Given the description of an element on the screen output the (x, y) to click on. 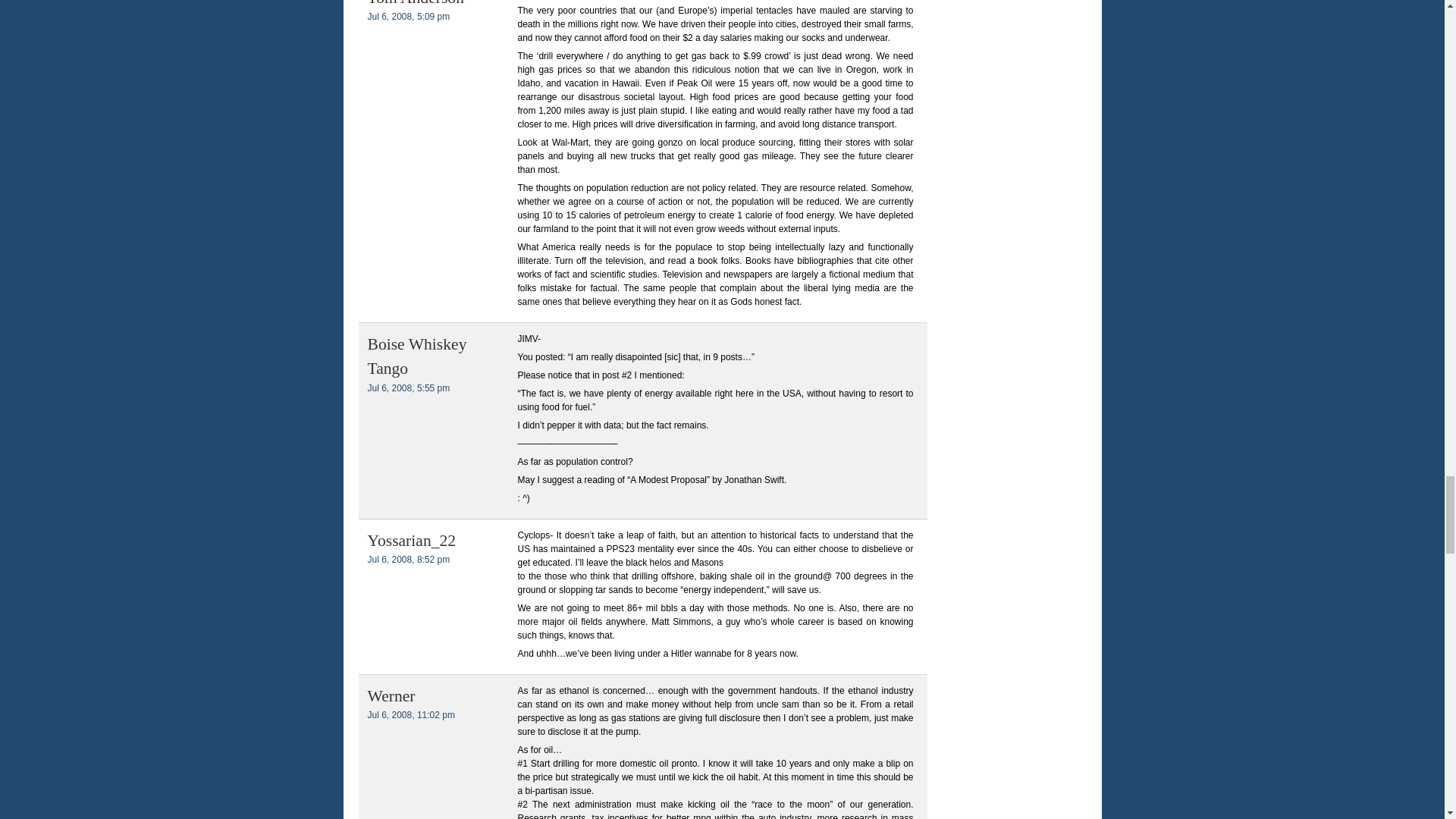
Jul 6, 2008, 5:09 pm (407, 16)
